Given the description of an element on the screen output the (x, y) to click on. 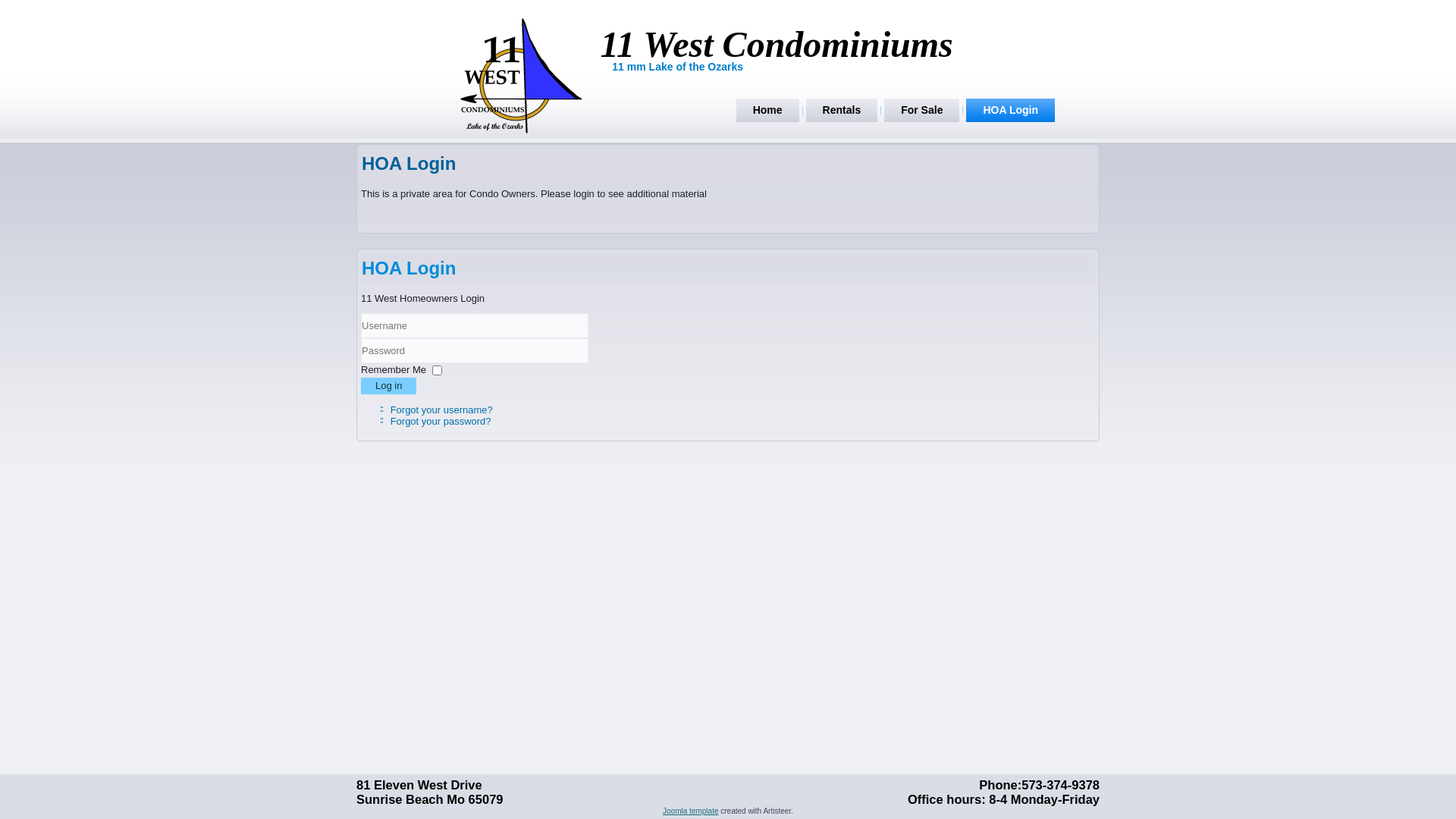
HOA Login Element type: text (1010, 110)
Forgot your username? Element type: text (441, 409)
Joomla template Element type: text (690, 810)
Forgot your password? Element type: text (440, 420)
For Sale Element type: text (921, 110)
Log in Element type: text (388, 385)
Home Element type: text (767, 110)
11 West Condominiums Element type: text (776, 44)
Rentals Element type: text (842, 110)
HOA Login Element type: text (408, 163)
